Given the description of an element on the screen output the (x, y) to click on. 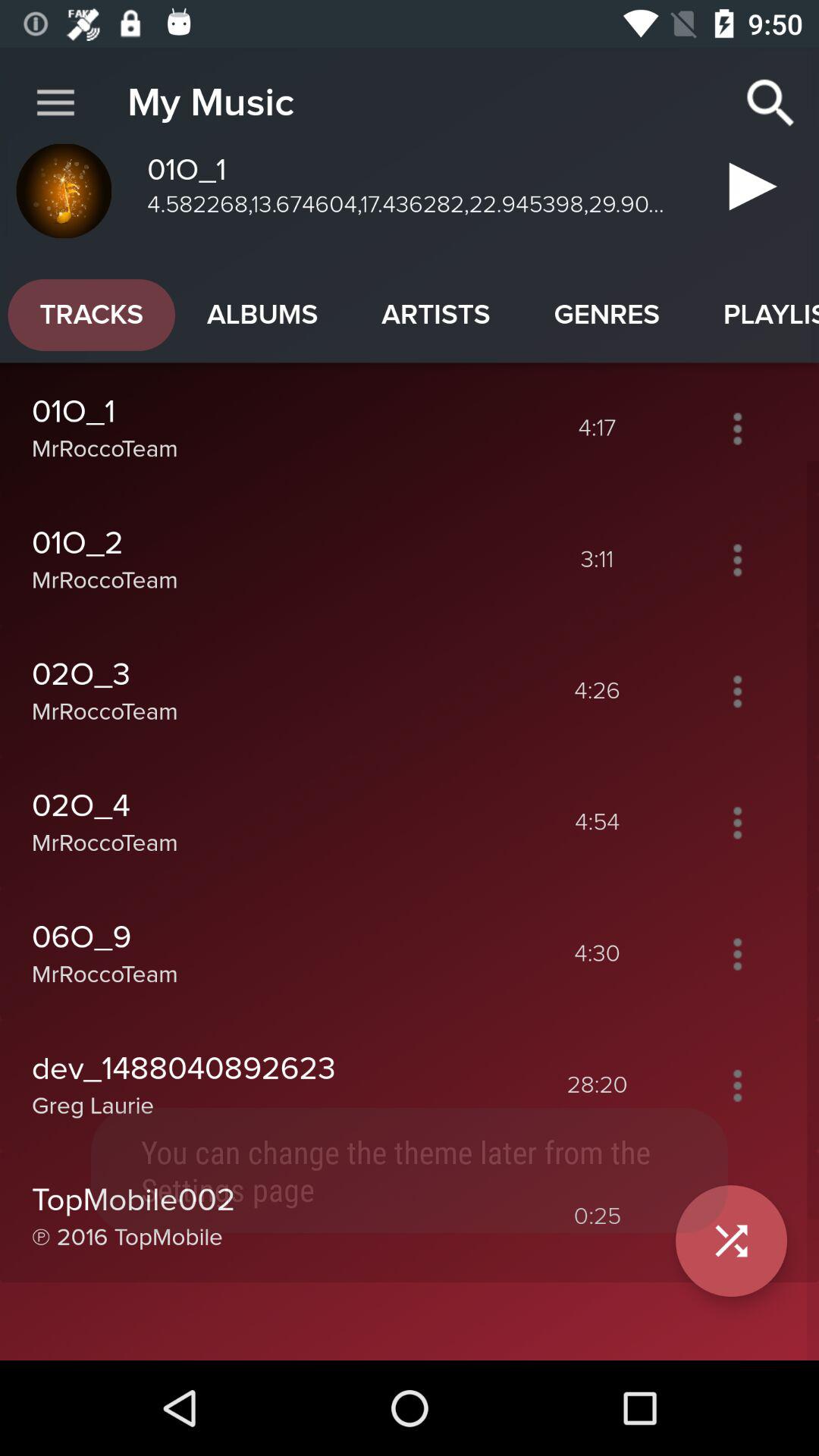
open options (737, 428)
